Given the description of an element on the screen output the (x, y) to click on. 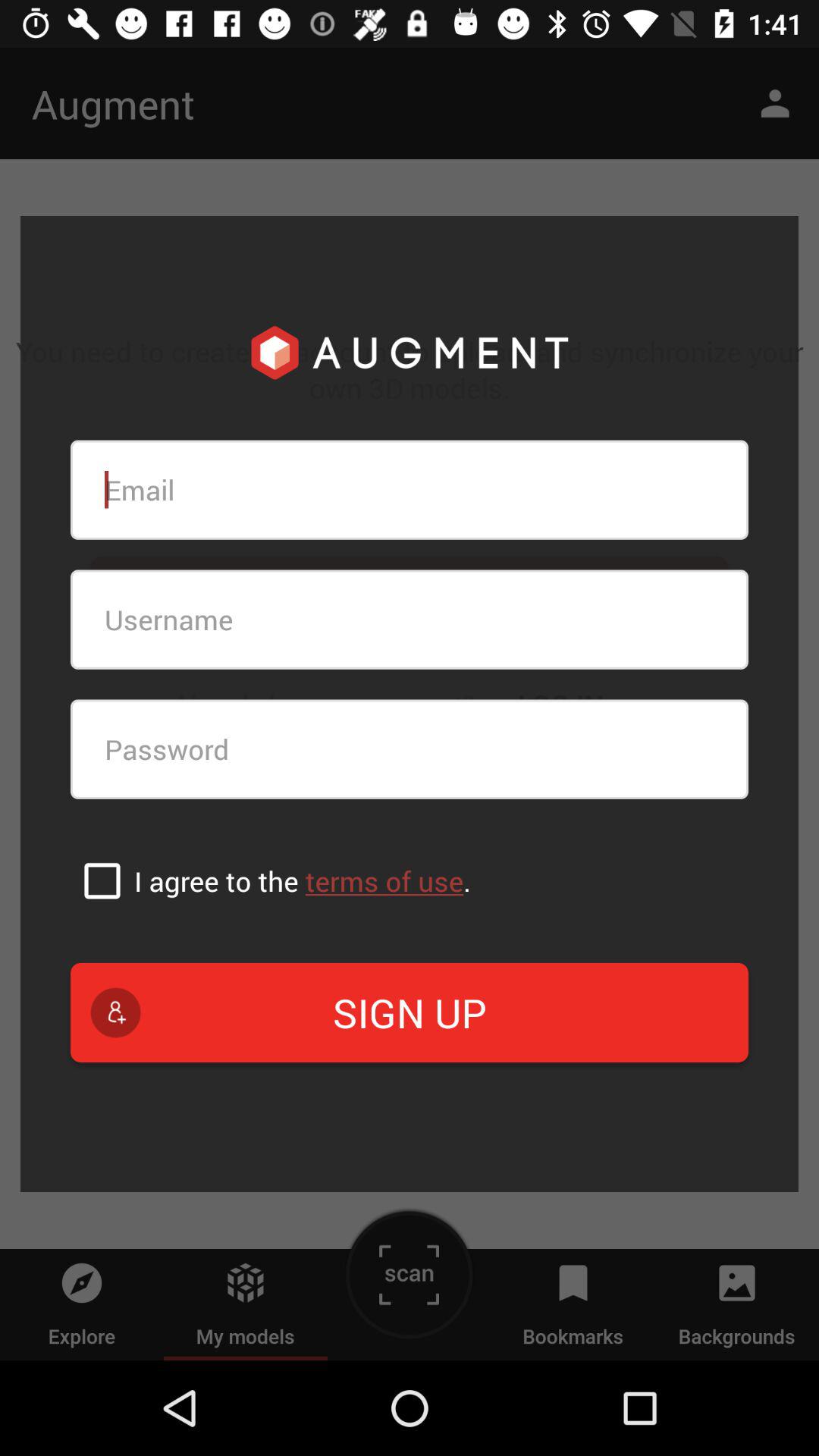
press the item above the sign up (302, 880)
